Given the description of an element on the screen output the (x, y) to click on. 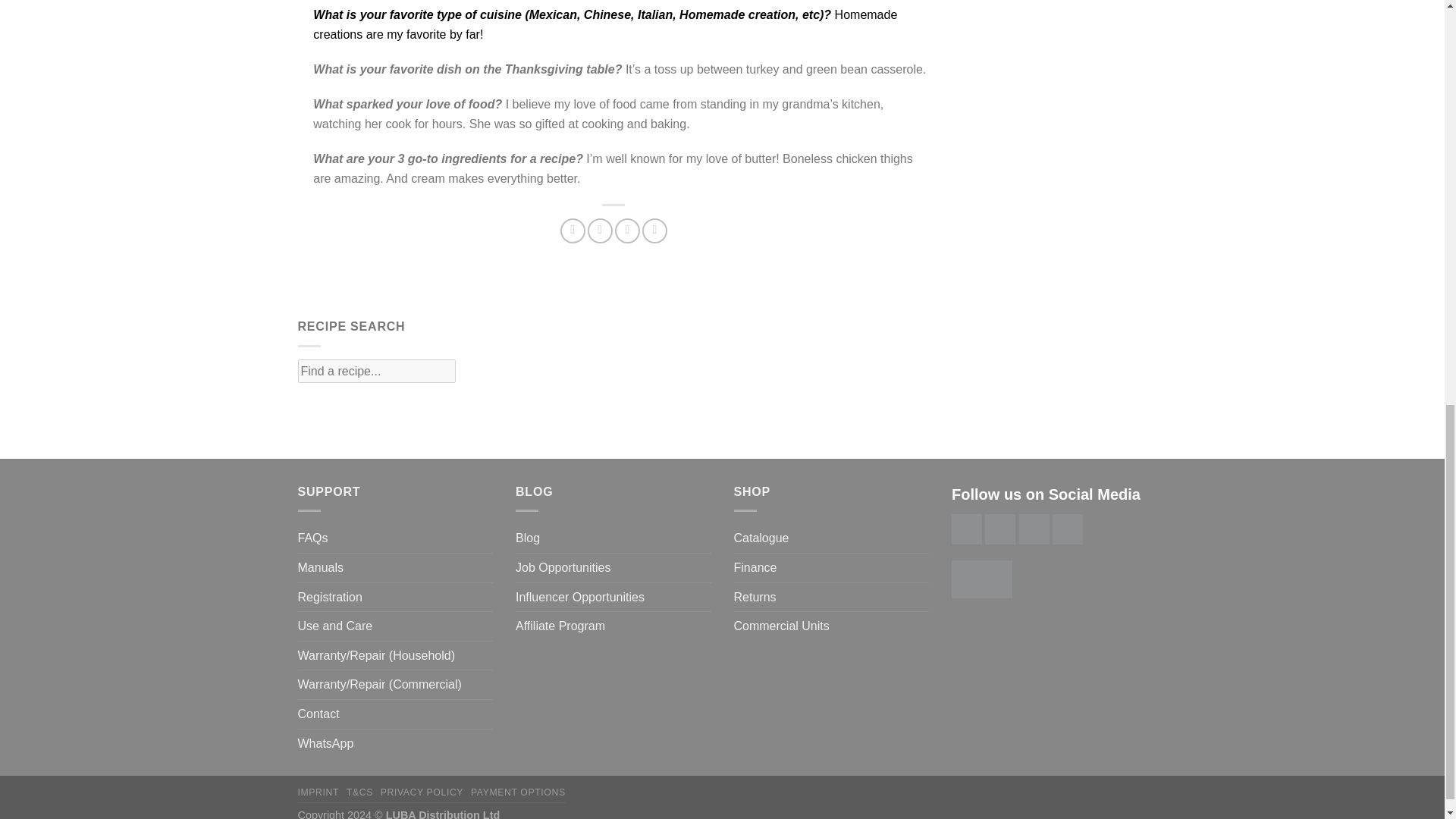
Folge uns auf Twitter (966, 529)
Email to a Friend (627, 230)
Pin on Pinterest (654, 230)
Share on Twitter (600, 230)
Share on Facebook (572, 230)
Folge uns auf Twitter (999, 529)
